Given the description of an element on the screen output the (x, y) to click on. 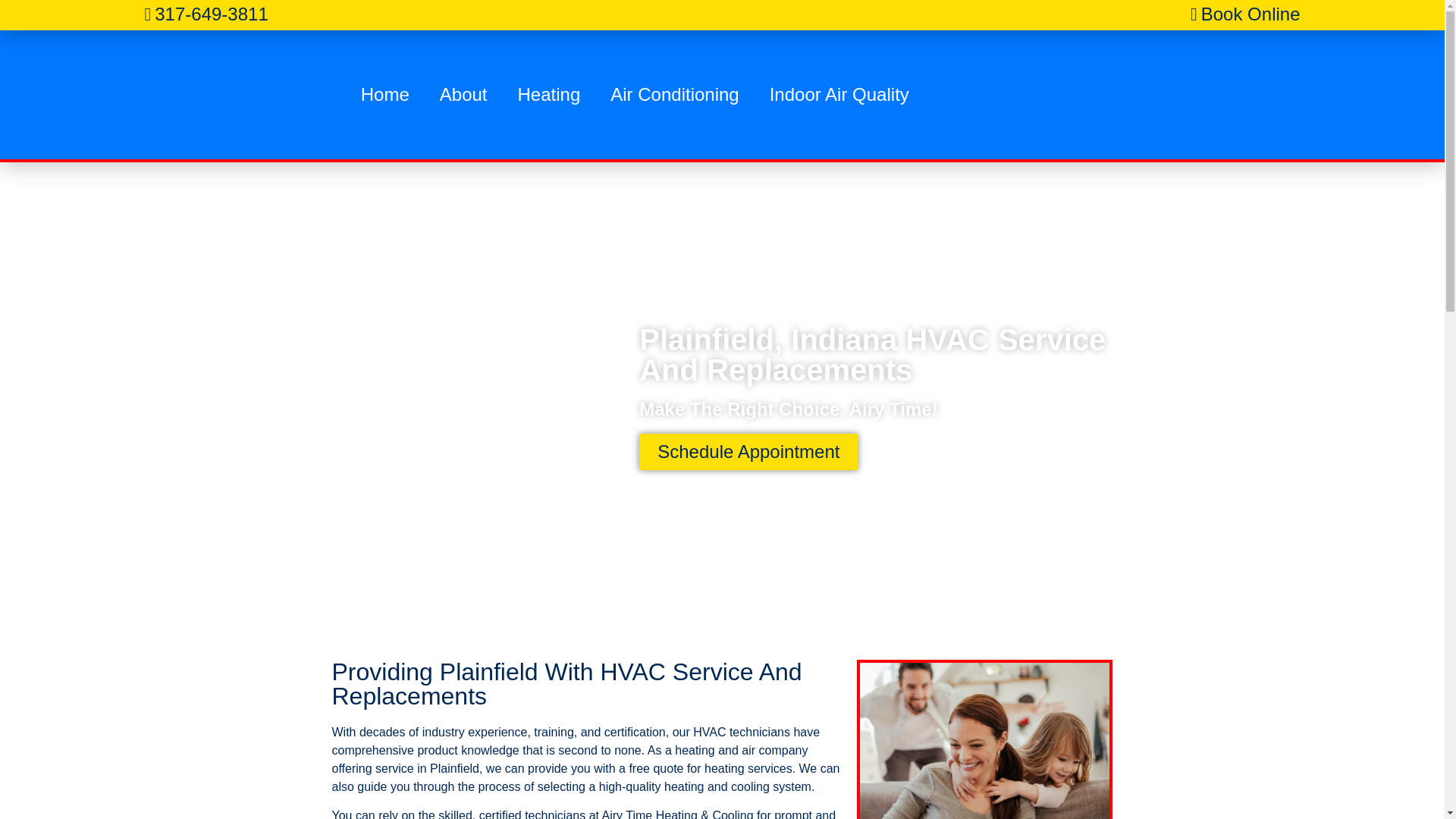
About (463, 94)
317-649-3811 (205, 13)
Indoor Air Quality (839, 94)
Air Conditioning (674, 94)
Home (385, 94)
Heating (548, 94)
Book Online (1245, 13)
